Given the description of an element on the screen output the (x, y) to click on. 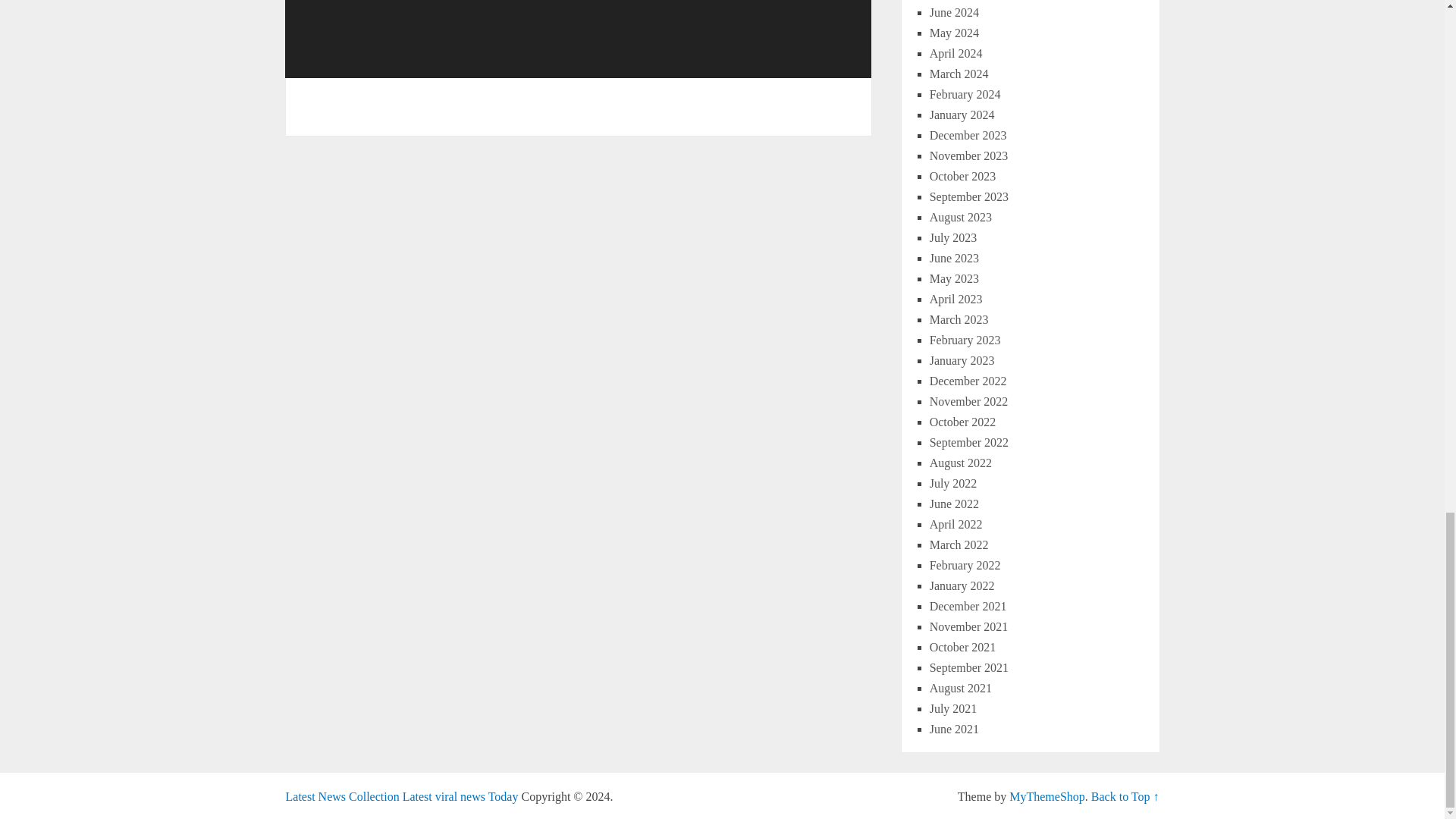
Breaking News (401, 796)
